Given the description of an element on the screen output the (x, y) to click on. 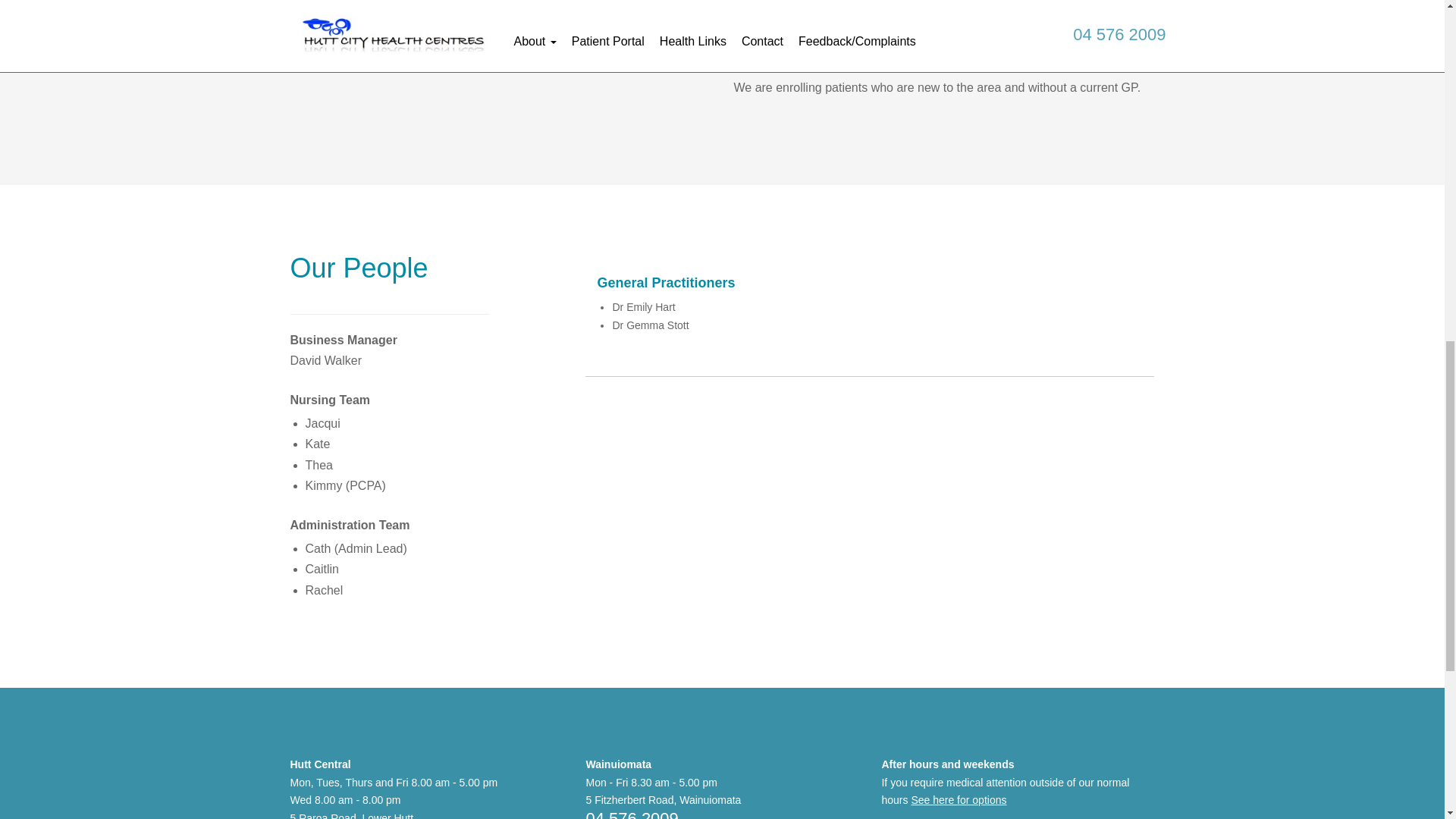
See here for options (958, 799)
